Given the description of an element on the screen output the (x, y) to click on. 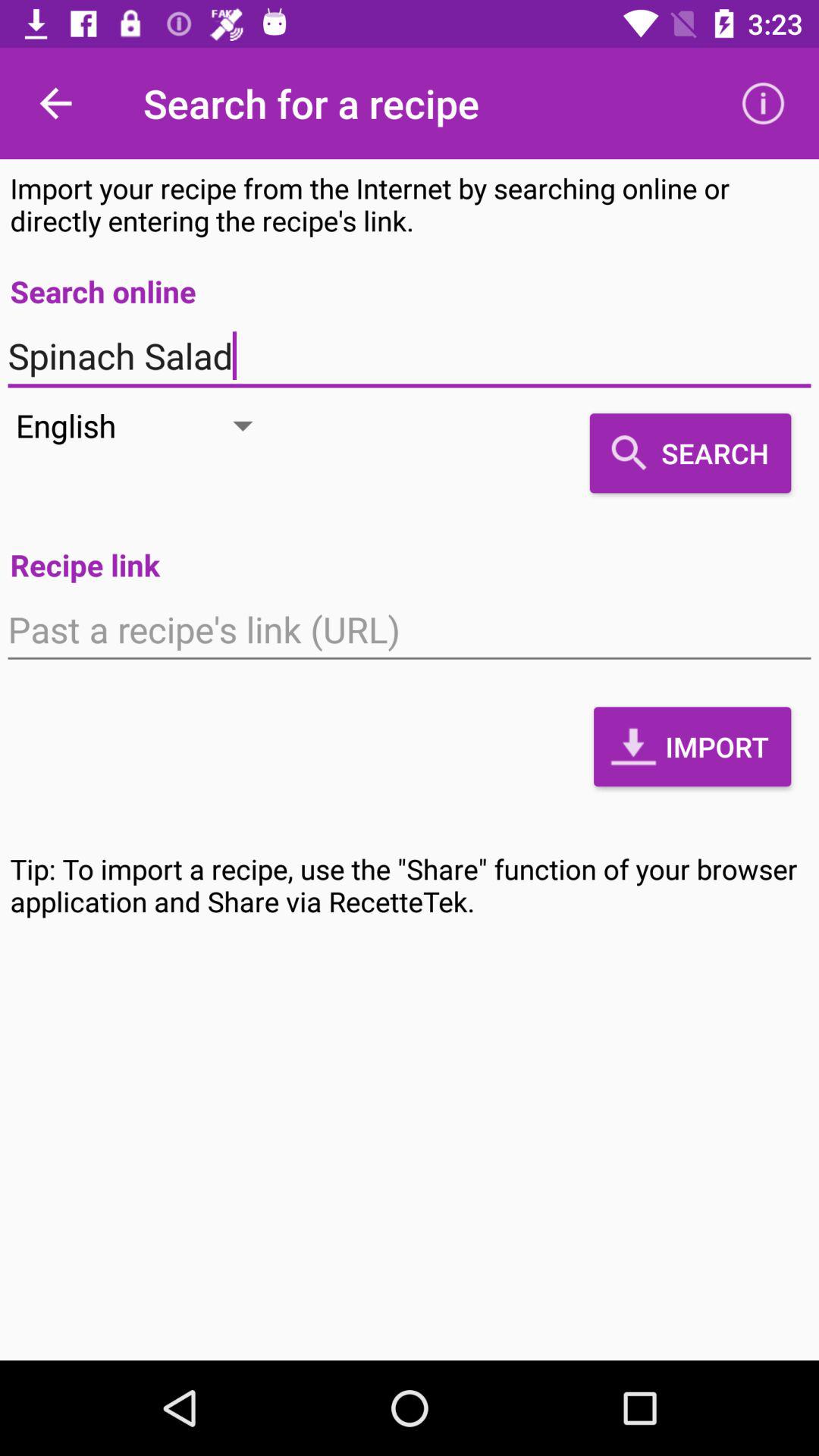
turn off item above import your recipe (763, 103)
